Given the description of an element on the screen output the (x, y) to click on. 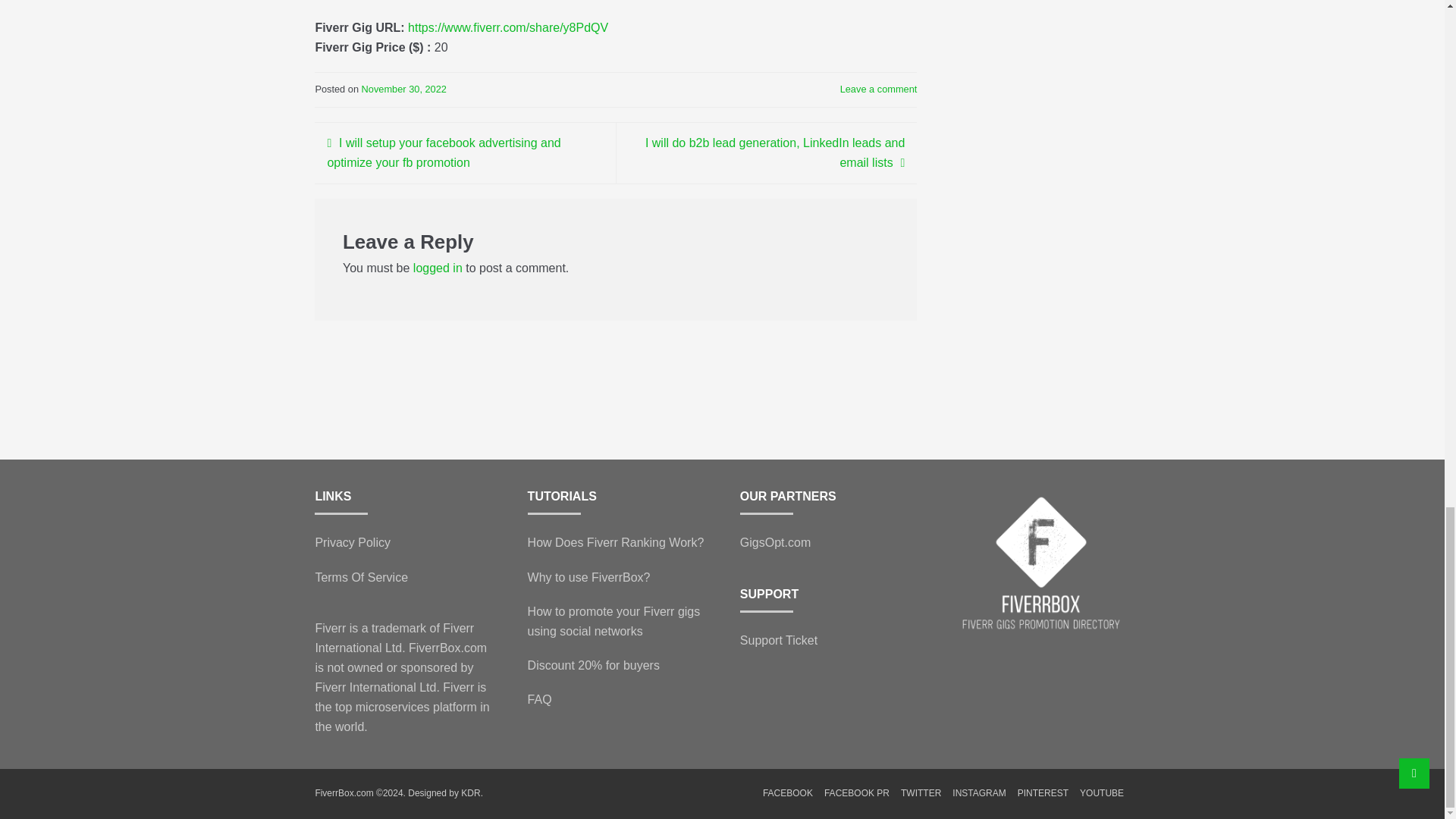
Advertisement (1040, 199)
FiverrBox.com - Fiverr Gigs Promotion Directory (470, 792)
